Given the description of an element on the screen output the (x, y) to click on. 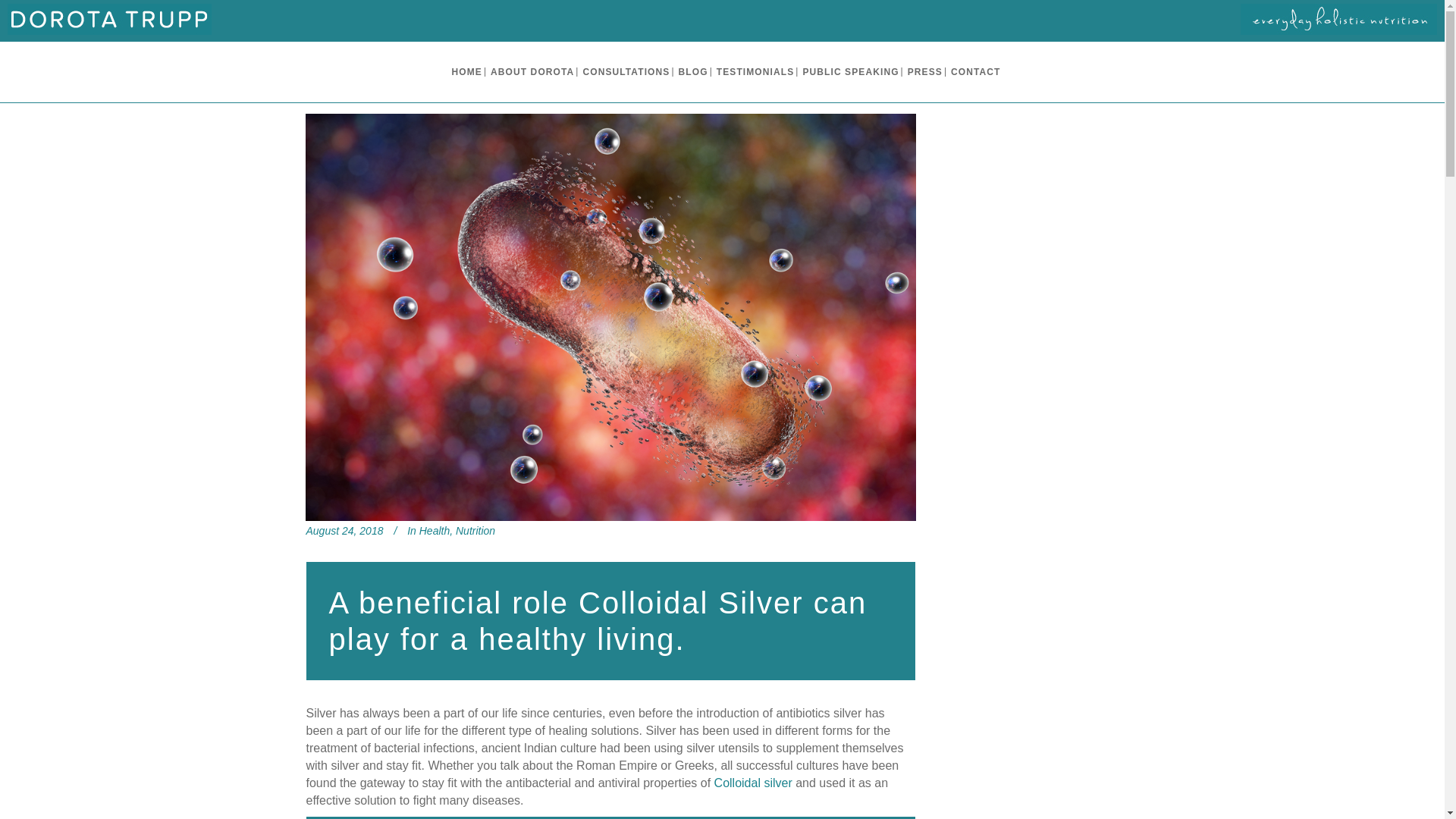
CONSULTATIONS (625, 71)
Colloidal silver (753, 782)
CONTACT (975, 71)
Health (434, 530)
TESTIMONIALS (755, 71)
PUBLIC SPEAKING (850, 71)
ABOUT DOROTA (531, 71)
Nutrition (475, 530)
